Given the description of an element on the screen output the (x, y) to click on. 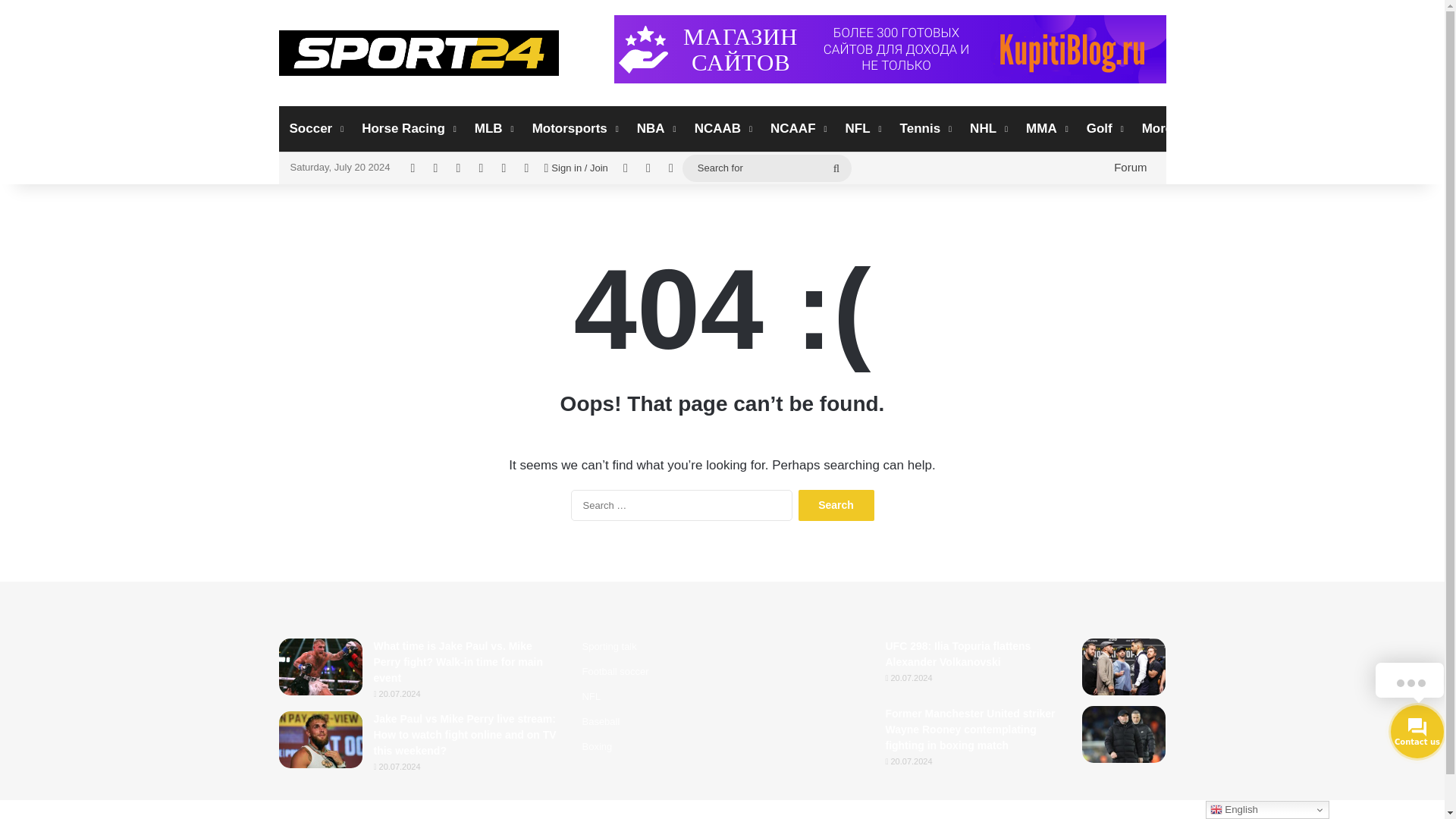
Motorsports (573, 128)
MLB (492, 128)
Search for (766, 167)
NBA (655, 128)
Soccer (315, 128)
Horse Racing (407, 128)
Search (835, 504)
Search (835, 504)
